Given the description of an element on the screen output the (x, y) to click on. 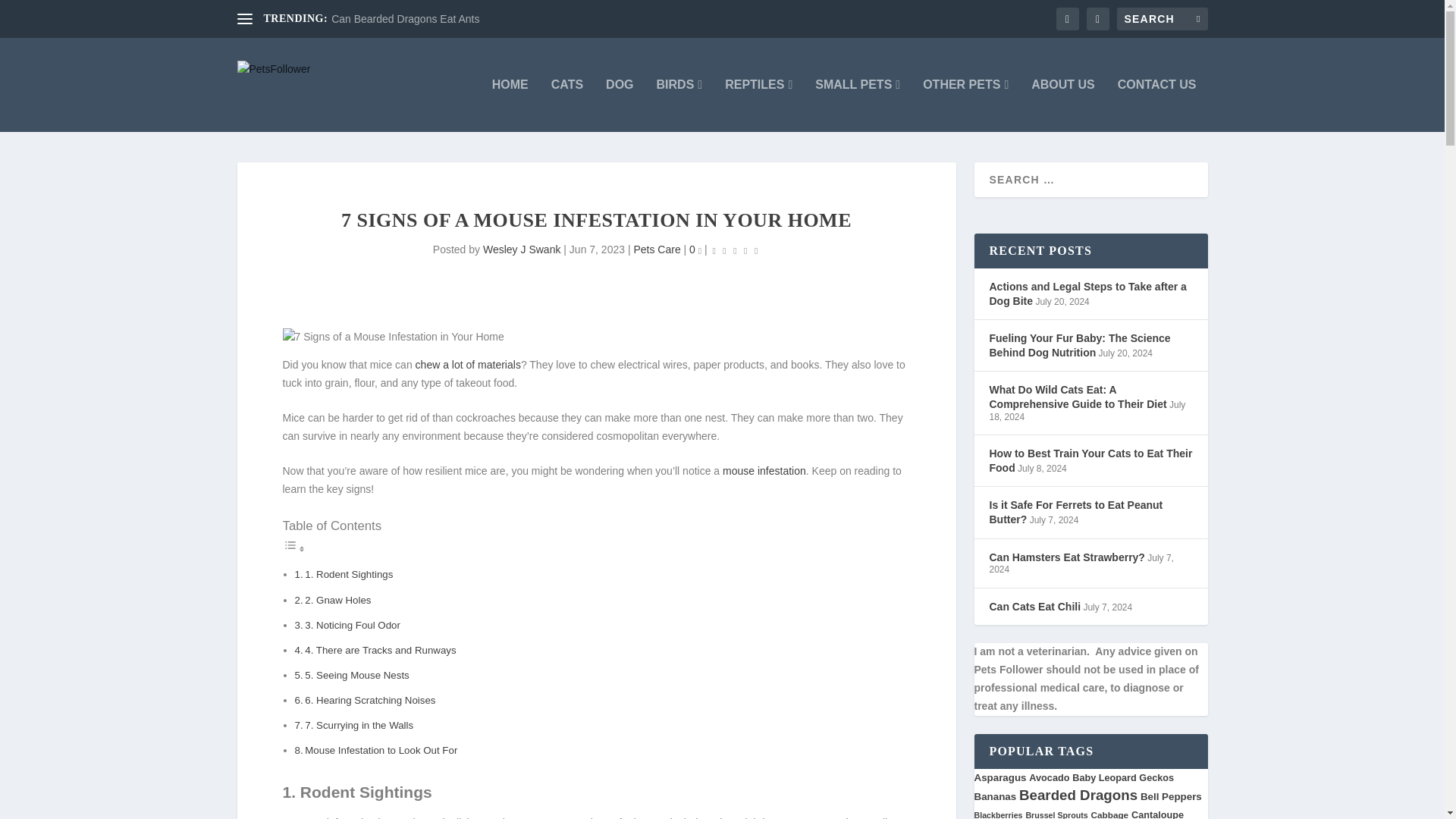
REPTILES (758, 104)
Wesley J Swank (521, 249)
0 (694, 249)
4. There are Tracks and Runways (379, 650)
SMALL PETS (857, 104)
Rating: 0.00 (735, 250)
CONTACT US (1157, 104)
OTHER PETS (966, 104)
Search for: (1161, 18)
Can Bearded Dragons Eat Ants (405, 19)
2. Gnaw Holes (337, 600)
chew a lot of materials (467, 364)
5. Seeing Mouse Nests (356, 674)
Posts by Wesley J Swank (521, 249)
4. There are Tracks and Runways (379, 650)
